Given the description of an element on the screen output the (x, y) to click on. 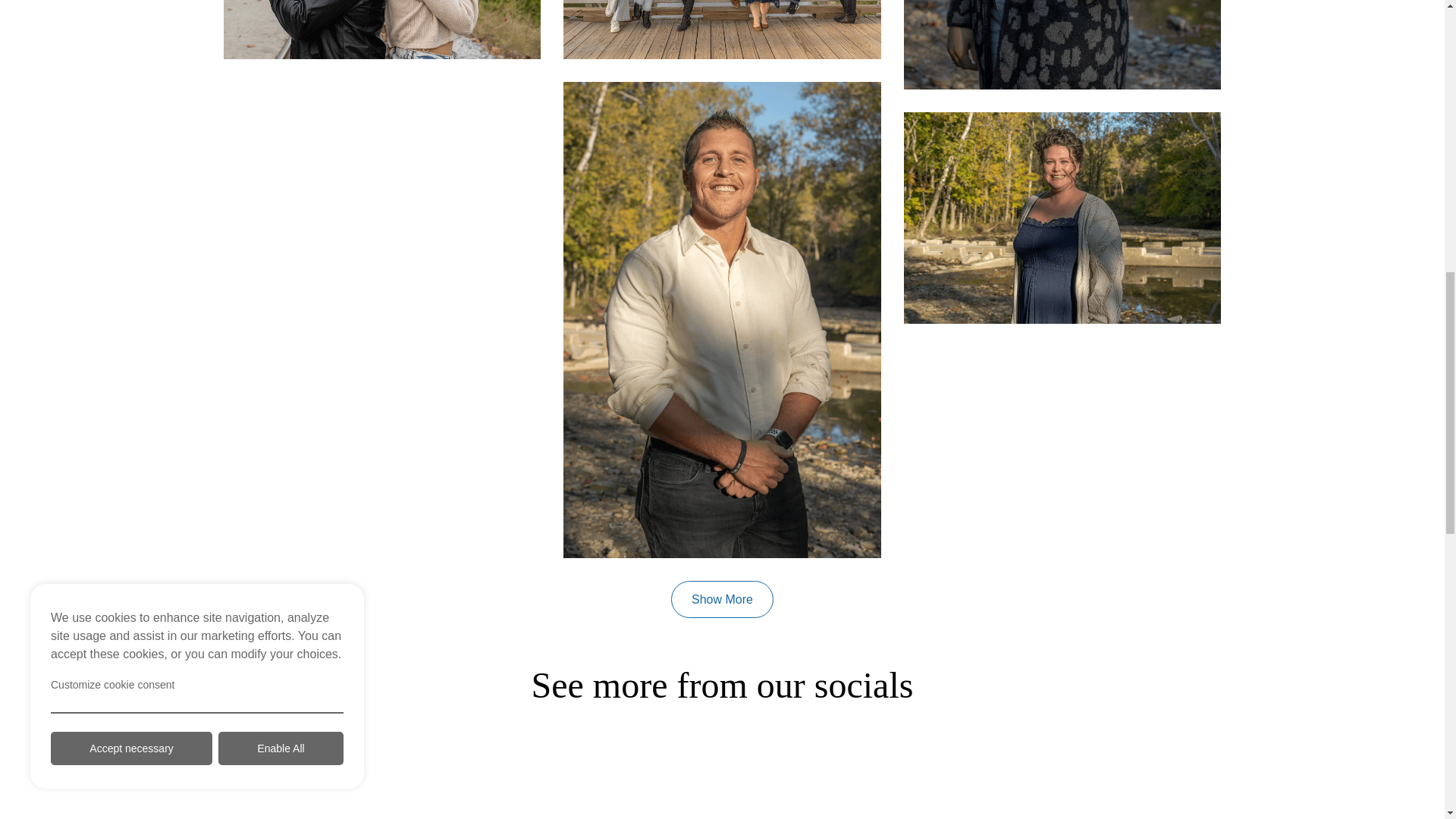
gallery-full-image (722, 780)
family-dentist-in-ohio (382, 29)
dentist-jordan-m-job (1062, 217)
family-dentist-in-parma (1062, 44)
dr-job-team (721, 29)
